Given the description of an element on the screen output the (x, y) to click on. 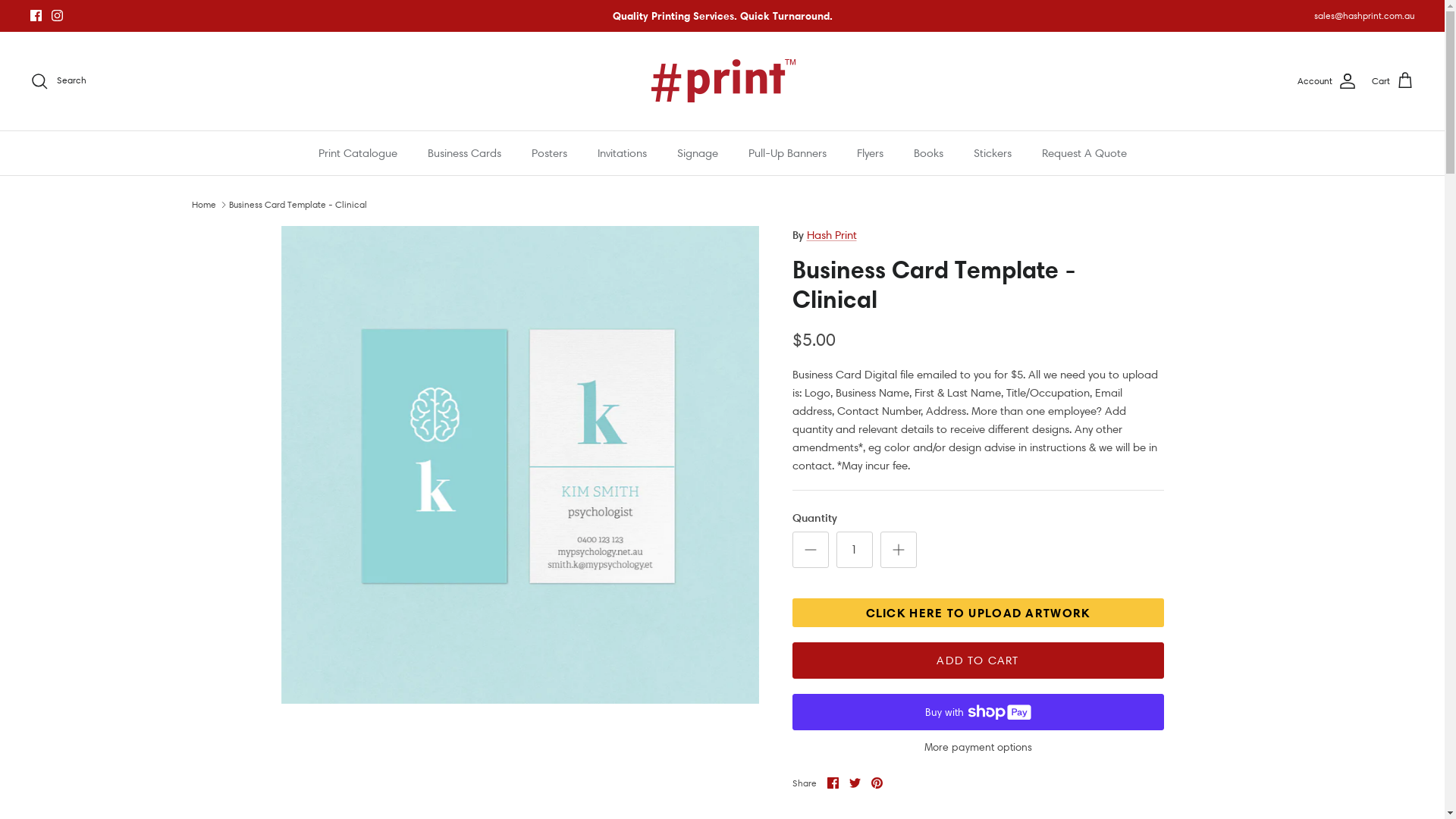
Pinterest
Pin it Element type: text (875, 782)
sales@hashprint.com.au Element type: text (1364, 15)
Stickers Element type: text (992, 153)
Instagram Element type: text (56, 15)
More payment options Element type: text (977, 746)
Facebook
Share on Facebook Element type: text (831, 782)
Print Catalogue Element type: text (357, 153)
Minus Element type: text (809, 549)
Business Cards Element type: text (464, 153)
Home Element type: text (203, 204)
Invitations Element type: text (621, 153)
Signage Element type: text (696, 153)
Flyers Element type: text (870, 153)
Pull-Up Banners Element type: text (786, 153)
CLICK HERE TO UPLOAD ARTWORK Element type: text (977, 612)
Request A Quote Element type: text (1084, 153)
Books Element type: text (927, 153)
Twitter
Share on Twitter Element type: text (854, 782)
Hash Print Element type: hover (721, 81)
Facebook Element type: text (35, 15)
Business Card Template - Clinical Element type: text (298, 204)
Hash Print Element type: text (831, 234)
Posters Element type: text (548, 153)
Account Element type: text (1326, 81)
ADD TO CART Element type: text (977, 660)
Plus Element type: text (897, 549)
Search Element type: text (58, 81)
Cart Element type: text (1392, 81)
